Given the description of an element on the screen output the (x, y) to click on. 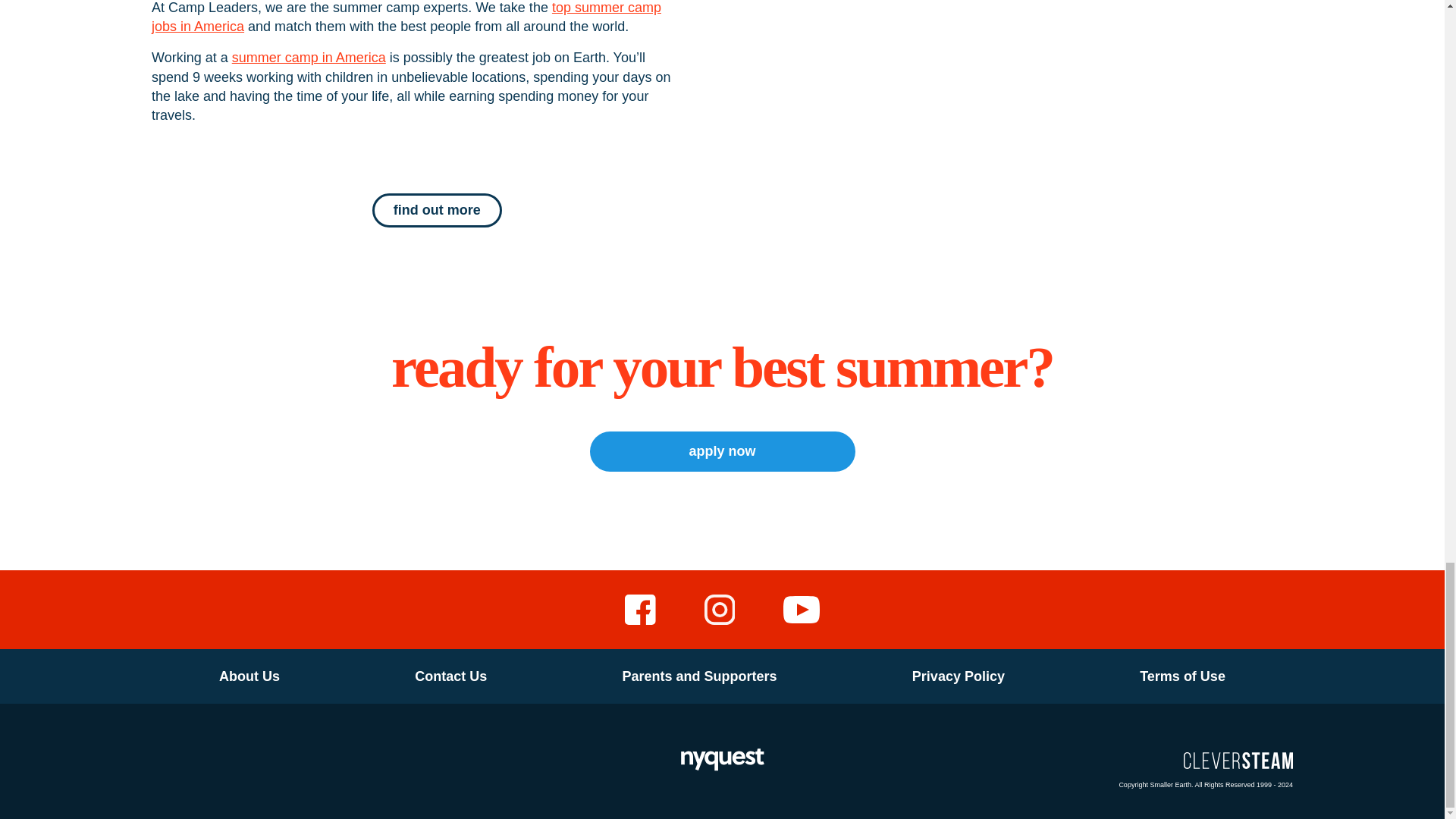
Terms of Use (1181, 676)
apply now (722, 451)
Privacy Policy (957, 676)
find out more (437, 210)
top summer camp jobs in America (406, 17)
About Us (249, 676)
Parents and Supporters (699, 676)
summer camp in America (308, 57)
Contact Us (450, 676)
